Given the description of an element on the screen output the (x, y) to click on. 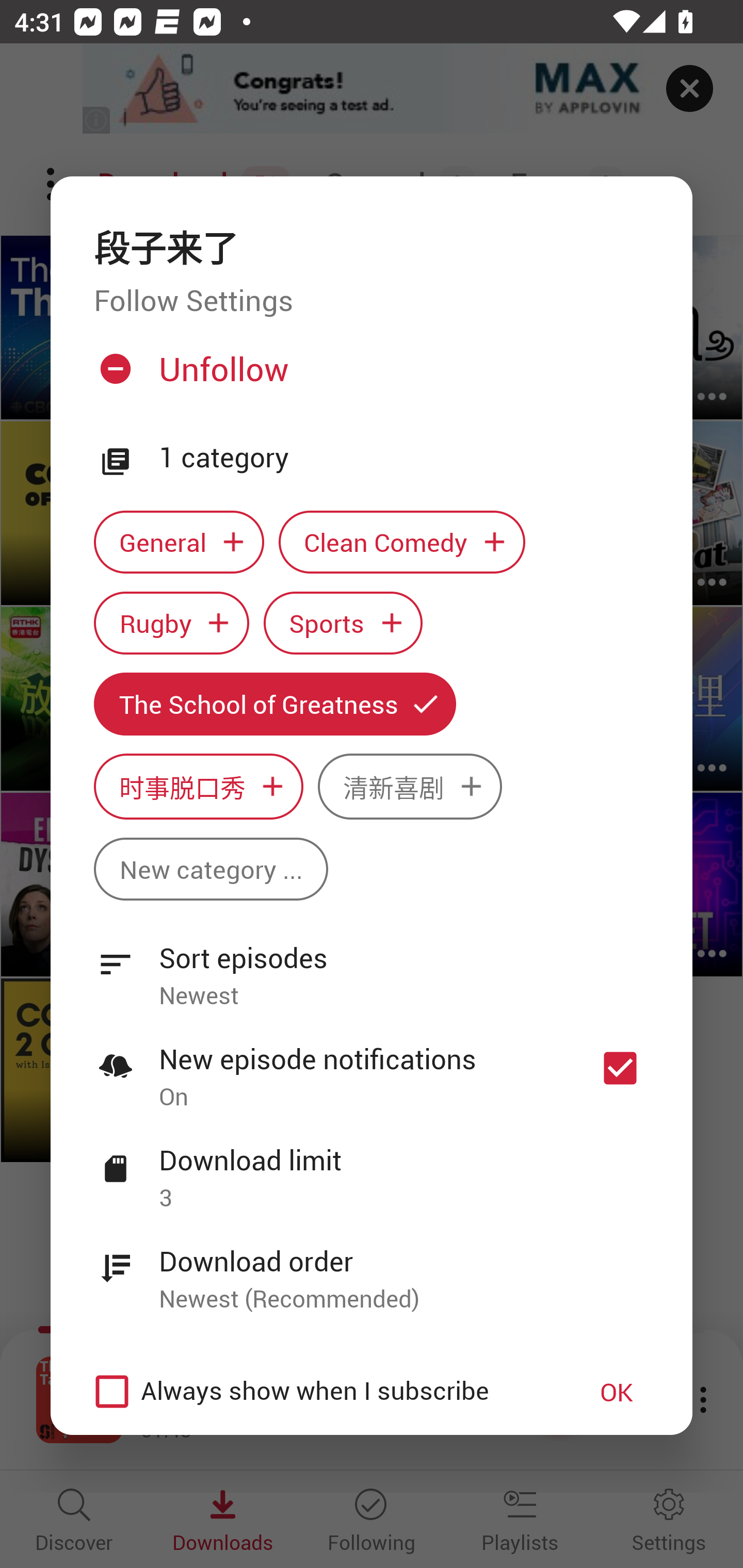
Unfollow (369, 376)
1 category (404, 457)
General (178, 542)
Clean Comedy (401, 542)
Rugby (170, 622)
Sports (342, 622)
The School of Greatness (274, 703)
时事脱口秀 (198, 787)
清新喜剧 (410, 787)
New category ... (210, 868)
Sort episodes Newest (371, 965)
New episode notifications (620, 1068)
Download limit 3 (371, 1167)
Download order Newest (Recommended) (371, 1268)
OK (616, 1391)
Always show when I subscribe (320, 1391)
